Given the description of an element on the screen output the (x, y) to click on. 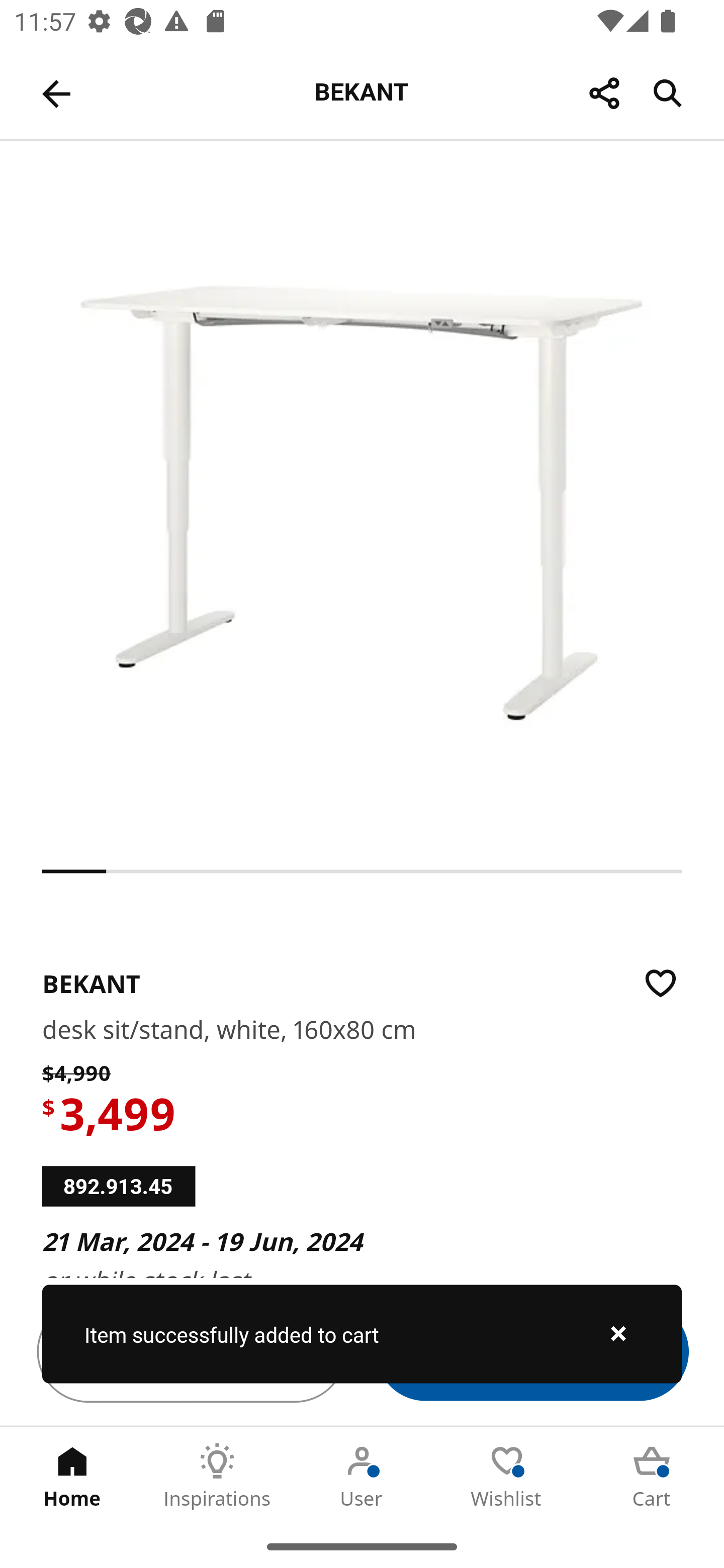
Item successfully added to cart (361, 1333)
Home
Tab 1 of 5 (72, 1476)
Inspirations
Tab 2 of 5 (216, 1476)
User
Tab 3 of 5 (361, 1476)
Wishlist
Tab 4 of 5 (506, 1476)
Cart
Tab 5 of 5 (651, 1476)
